Given the description of an element on the screen output the (x, y) to click on. 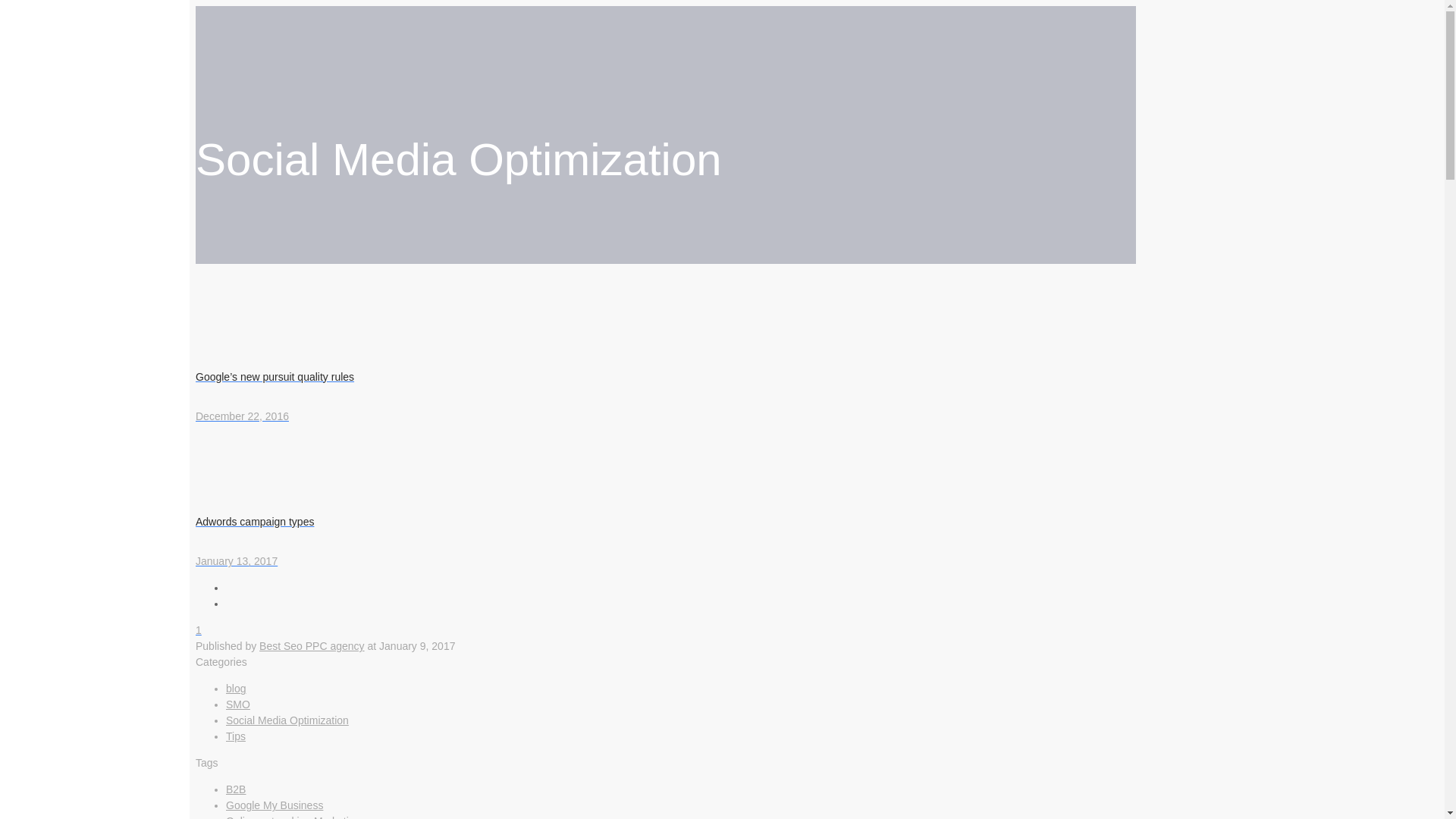
SMO (237, 704)
blog (235, 788)
Best Seo PPC agency (235, 688)
Google My Business (312, 645)
Online networking Marketing (274, 805)
Tips (292, 816)
Social Media Optimization (235, 736)
